Given the description of an element on the screen output the (x, y) to click on. 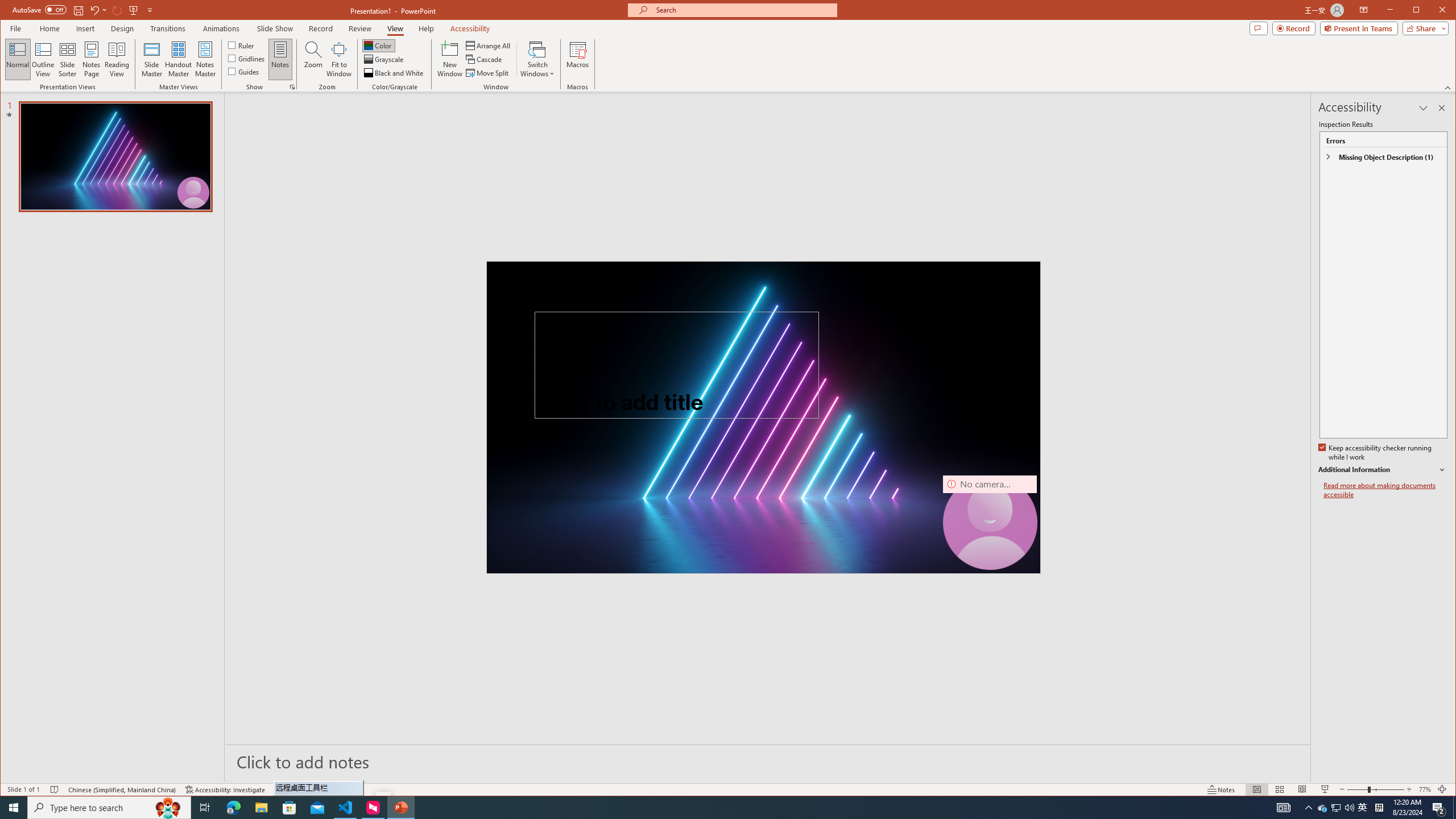
Zoom... (312, 59)
New Window (450, 59)
Black and White (394, 72)
Camera 7, No camera detected. (990, 522)
